Given the description of an element on the screen output the (x, y) to click on. 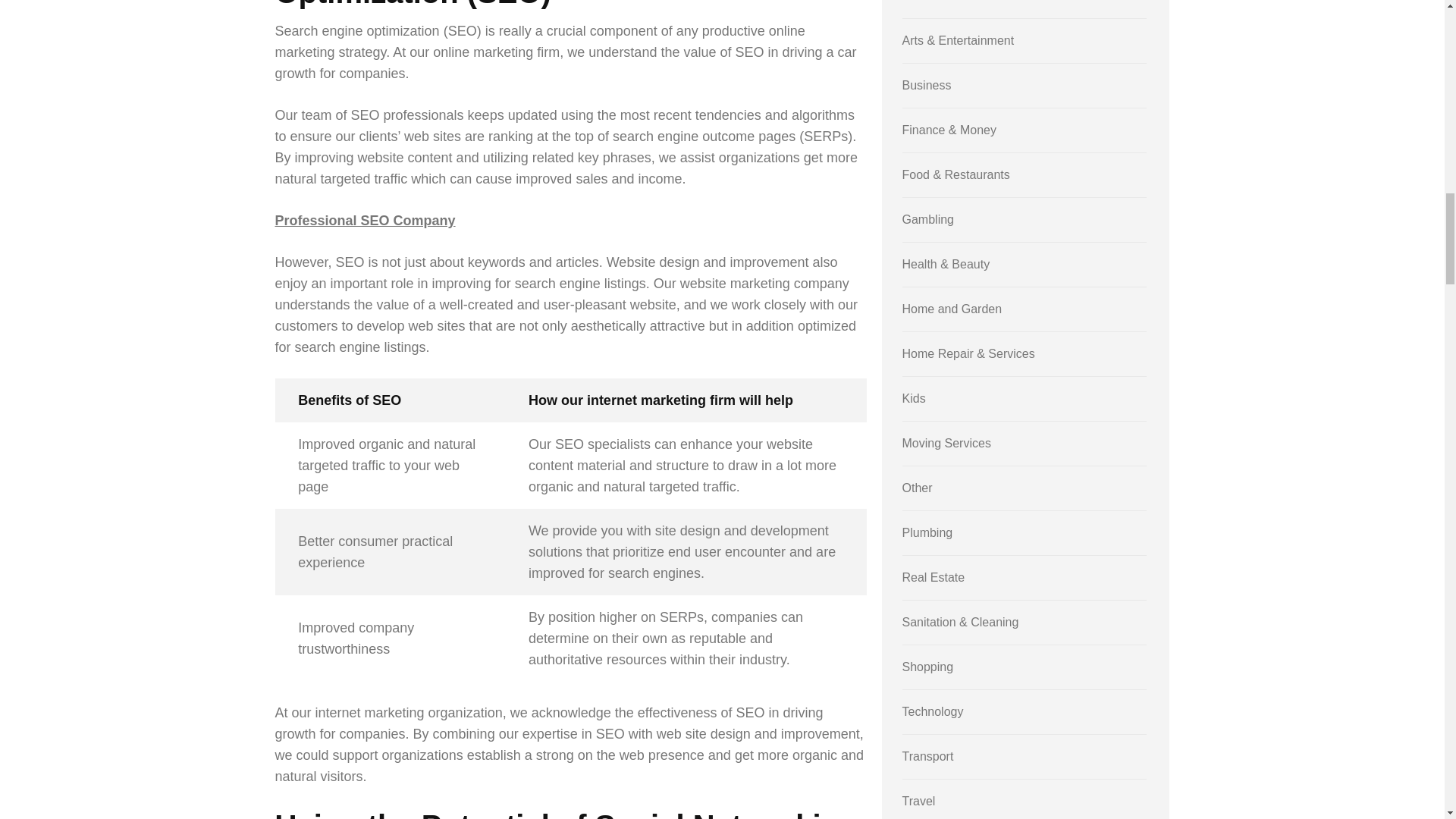
Professional SEO Company (364, 220)
